Given the description of an element on the screen output the (x, y) to click on. 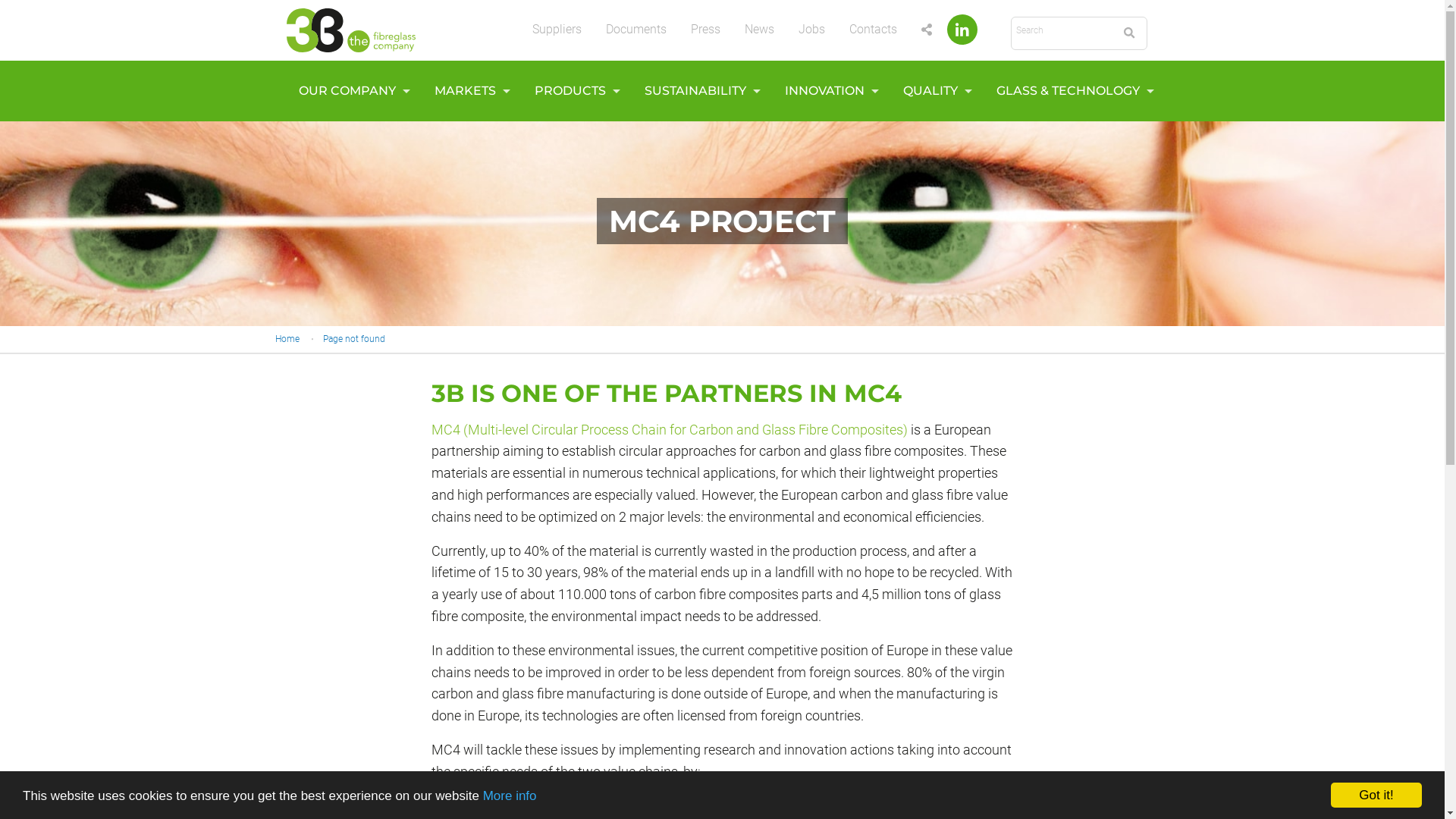
Skip to main content Element type: text (0, 0)
Home Element type: hover (350, 28)
SUSTAINABILITY Element type: text (698, 90)
Documents Element type: text (635, 29)
INNOVATION Element type: text (827, 90)
Press Element type: text (704, 29)
QUALITY Element type: text (933, 90)
Home Element type: text (286, 338)
<i class="fas fa-search"></i> Element type: text (1128, 33)
Page not found Element type: text (354, 338)
News Element type: text (759, 29)
Jobs Element type: text (810, 29)
More info Element type: text (509, 795)
OUR COMPANY Element type: text (350, 90)
Got it! Element type: text (1375, 794)
Suppliers Element type: text (556, 29)
MARKETS Element type: text (468, 90)
PRODUCTS Element type: text (573, 90)
Enter the terms you wish to search for. Element type: hover (1061, 30)
Contacts Element type: text (873, 29)
GLASS & TECHNOLOGY Element type: text (1070, 90)
